Given the description of an element on the screen output the (x, y) to click on. 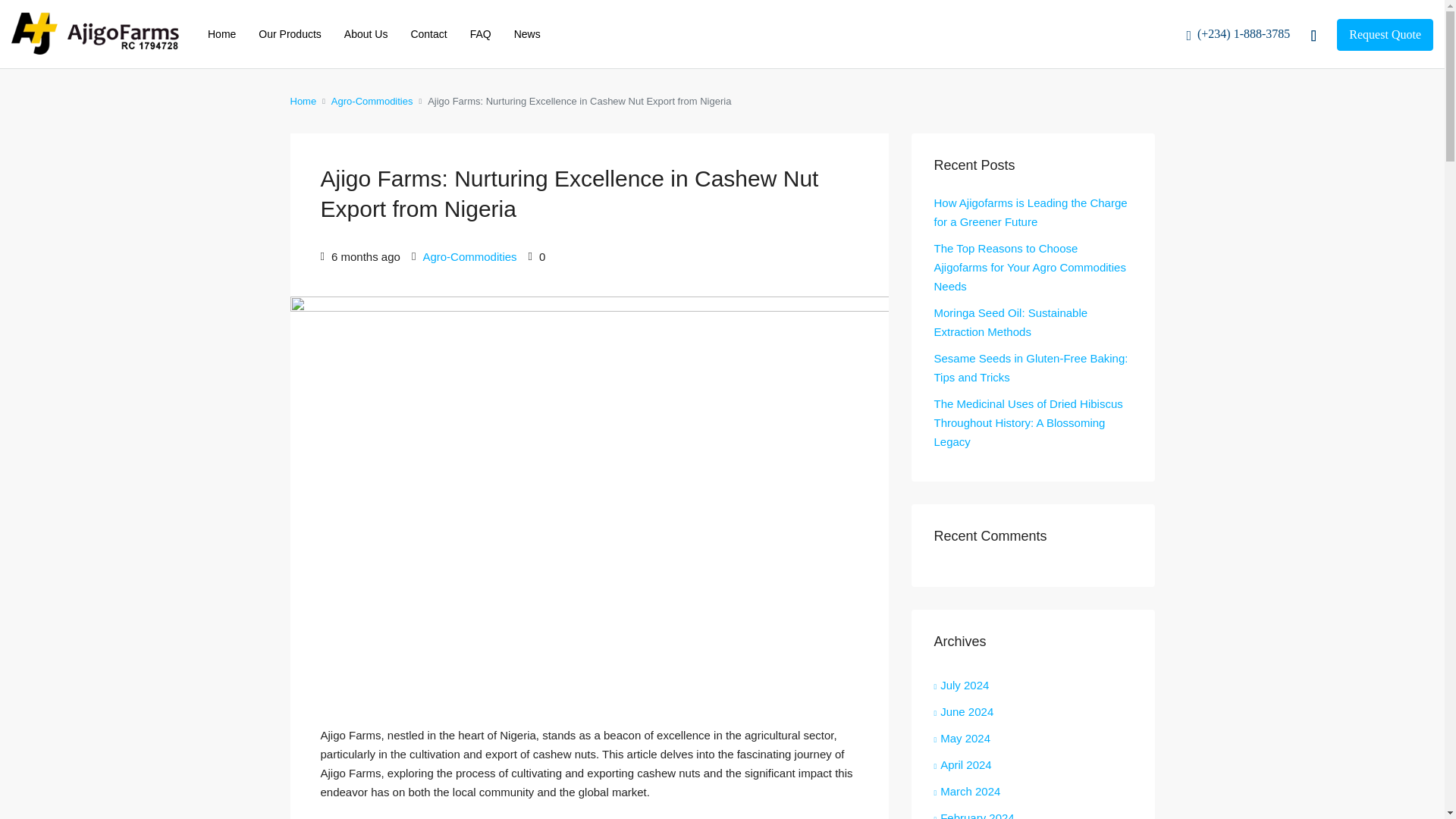
News (526, 33)
Our Products (289, 33)
Home (221, 33)
Request Quote (1384, 34)
Agro-Commodities (469, 256)
About Us (365, 33)
FAQ (480, 33)
Contact (428, 33)
Agro-Commodities (372, 100)
Home (302, 100)
